Given the description of an element on the screen output the (x, y) to click on. 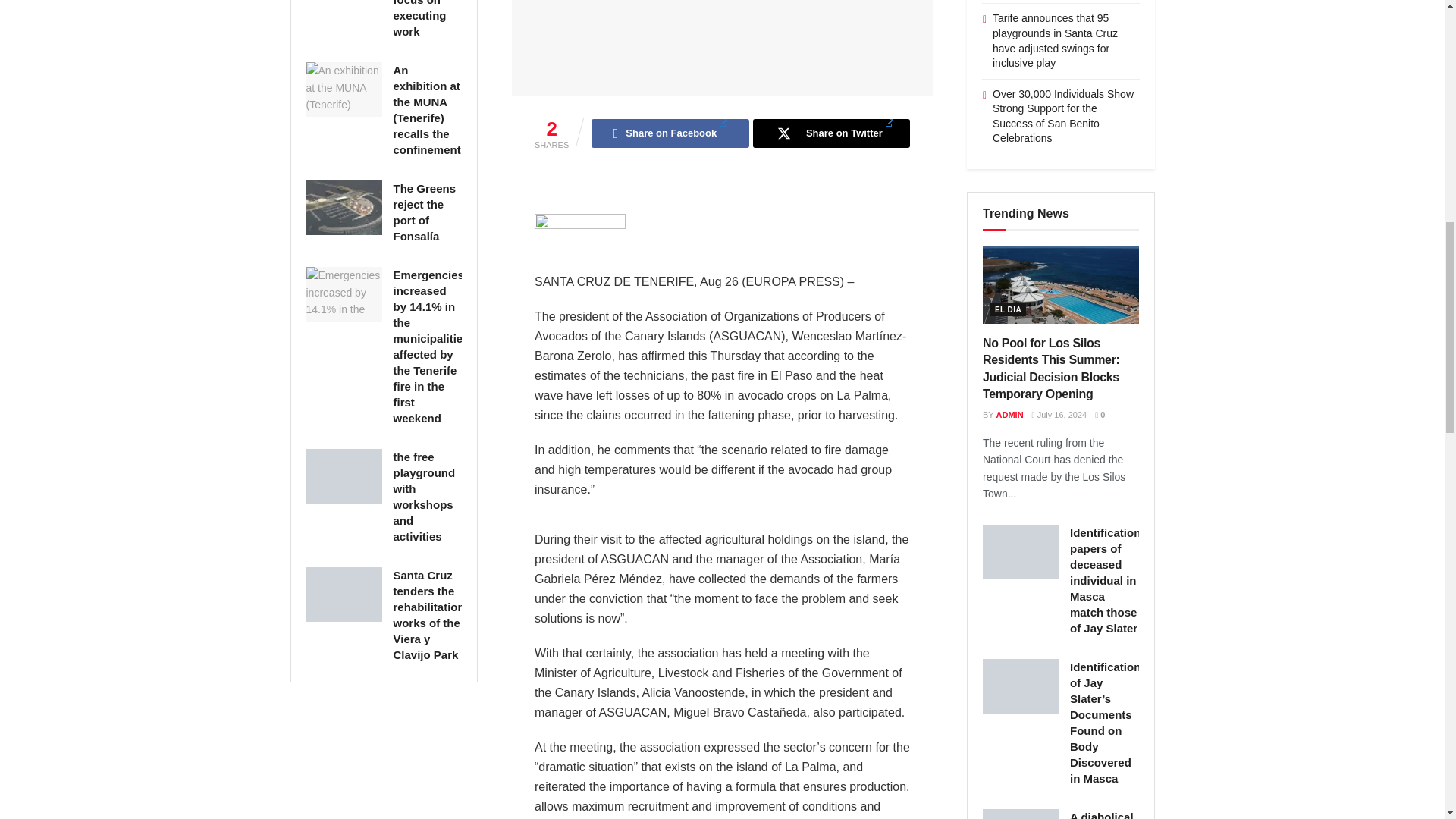
Share on Twitter (831, 133)
Share on Facebook (669, 133)
